Given the description of an element on the screen output the (x, y) to click on. 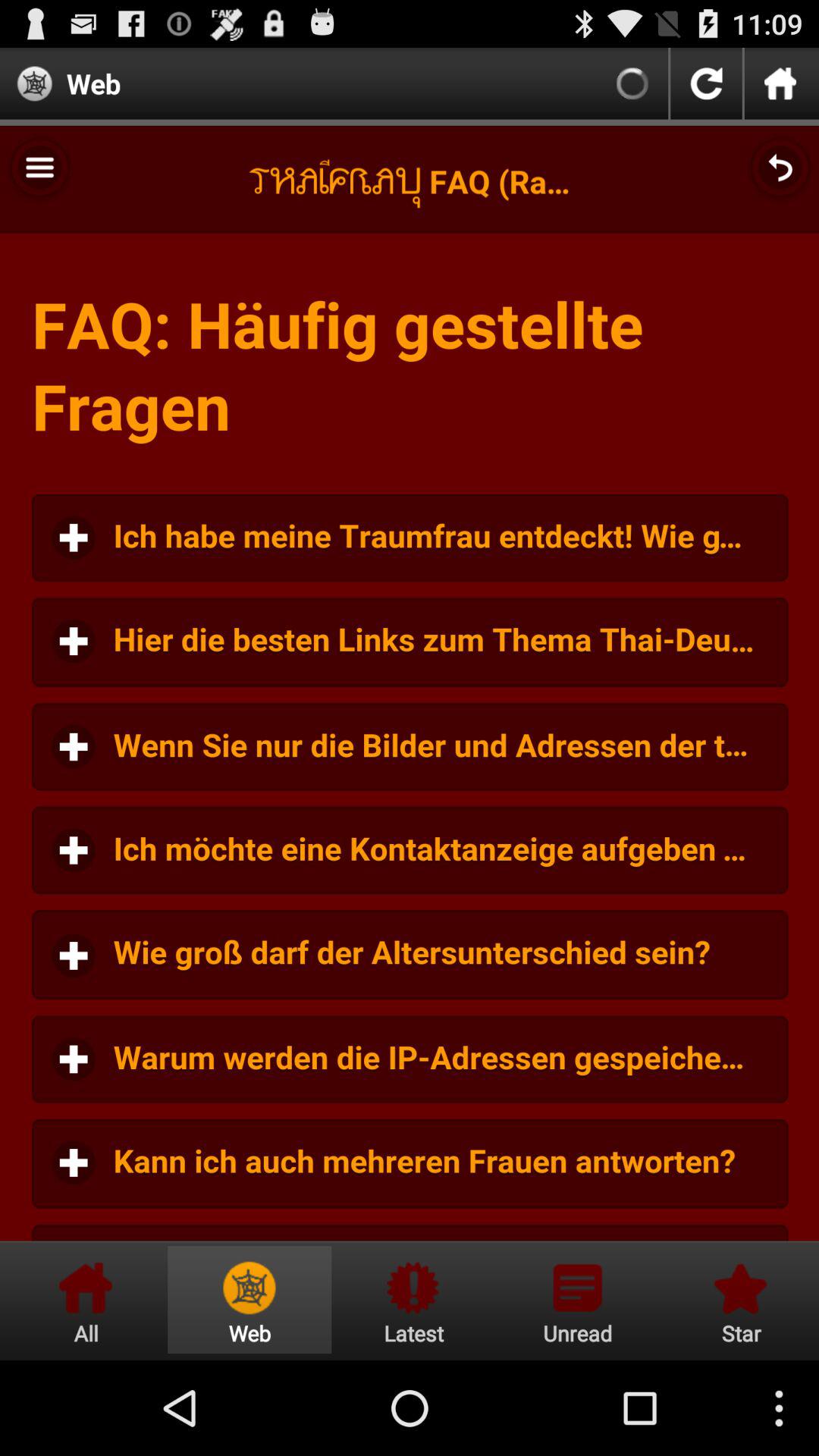
to go to unread section (577, 1299)
